Given the description of an element on the screen output the (x, y) to click on. 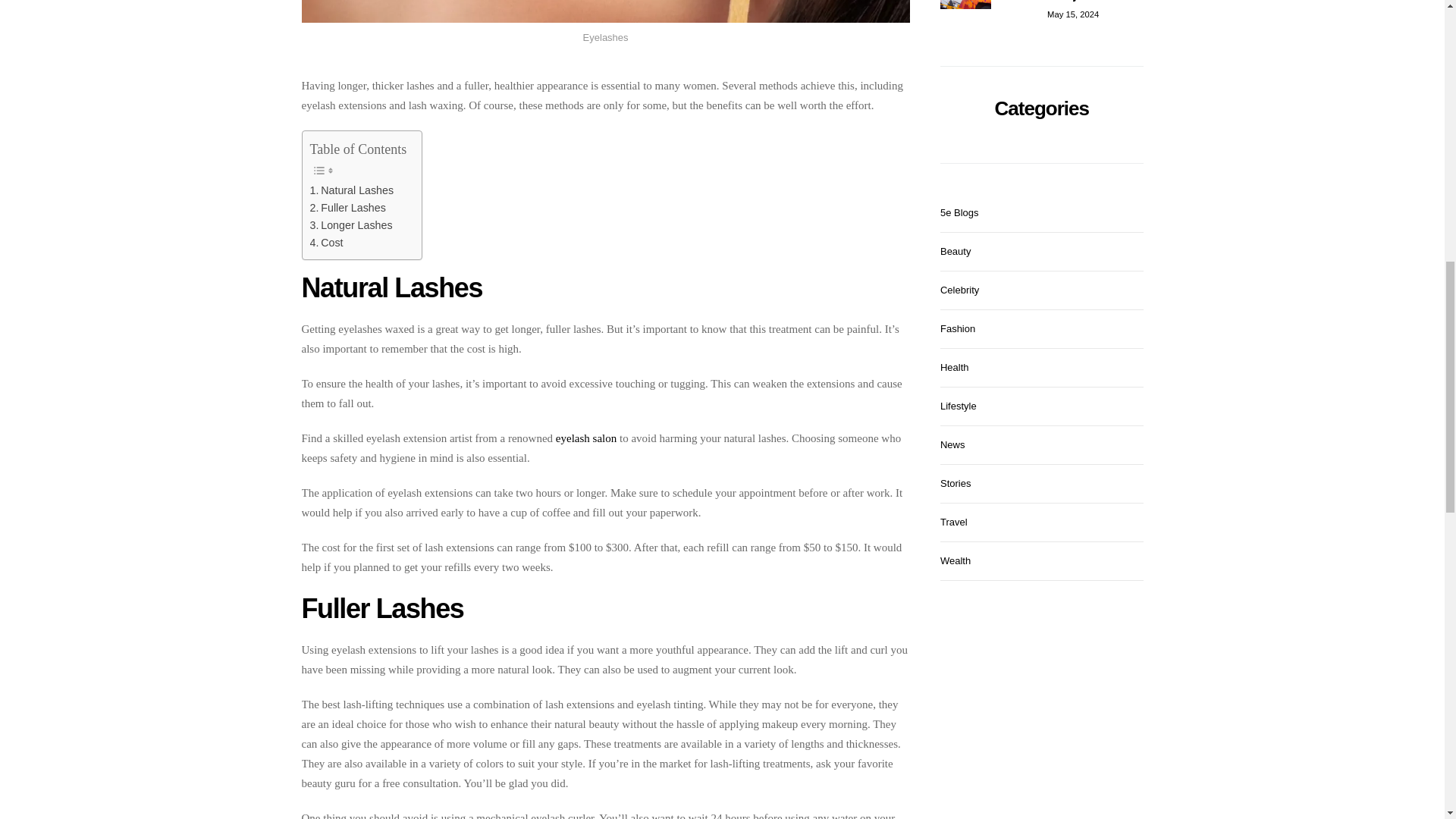
Fuller Lashes (346, 208)
Cost (325, 242)
Natural Lashes (350, 190)
Longer Lashes (349, 225)
Longer Lashes (349, 225)
Natural Lashes (350, 190)
Eyelashes (605, 11)
eyelash salon (585, 438)
Cost (325, 242)
Fuller Lashes (346, 208)
